Given the description of an element on the screen output the (x, y) to click on. 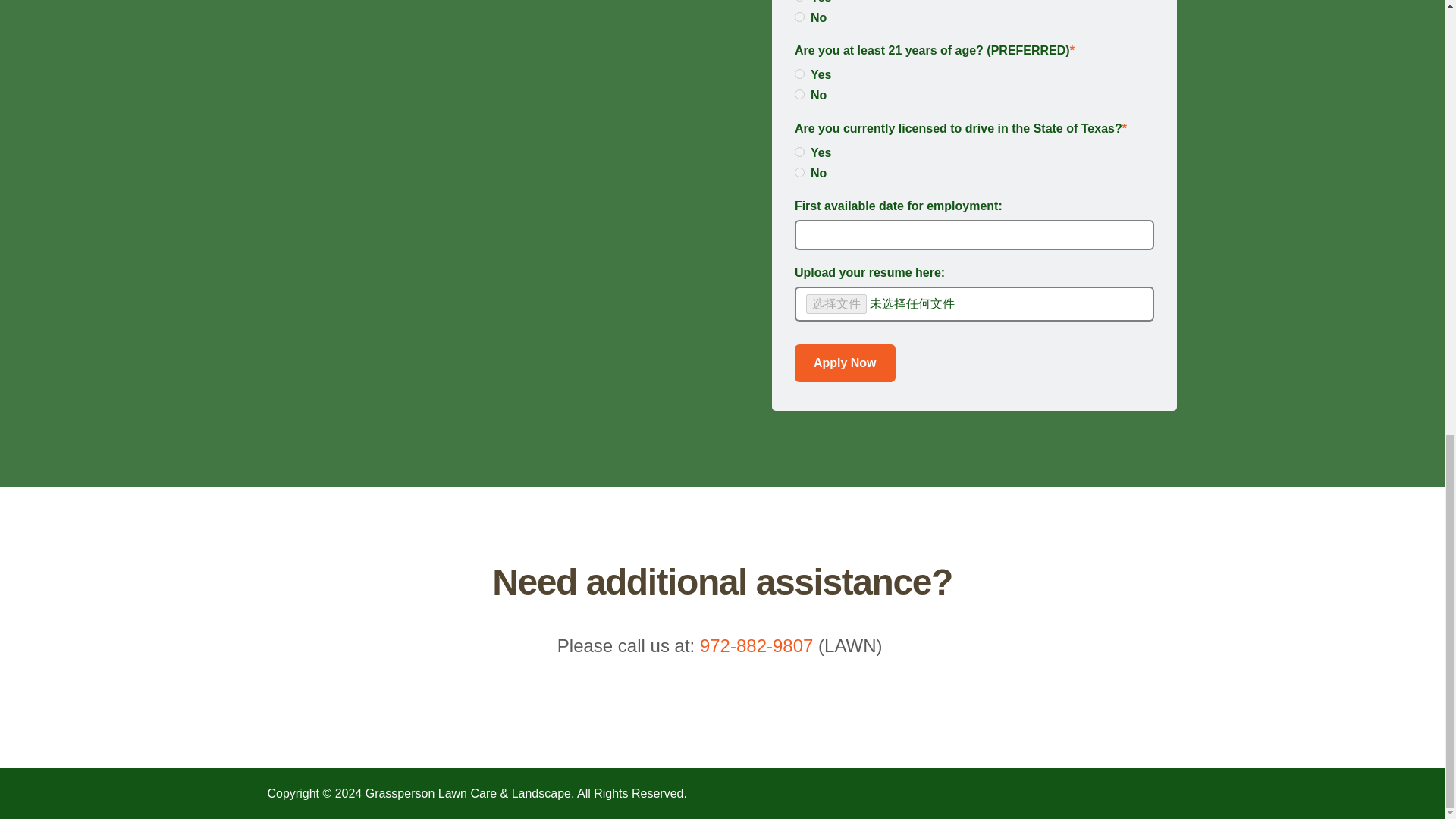
No (799, 172)
No (799, 17)
No (799, 94)
Yes (799, 73)
Apply Now (844, 362)
Yes (799, 152)
972-882-9807 (756, 645)
